Given the description of an element on the screen output the (x, y) to click on. 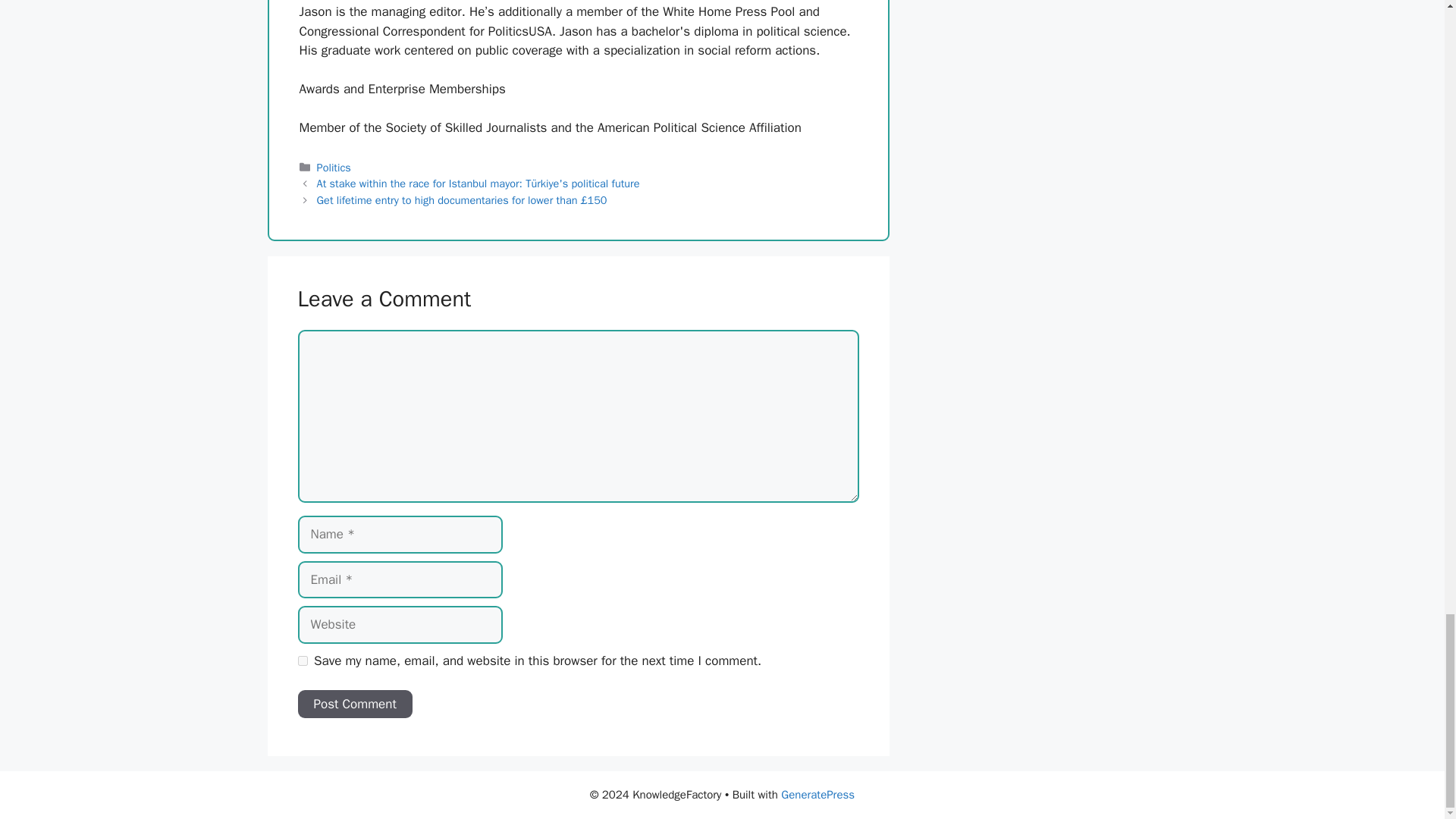
Post Comment (354, 704)
Politics (333, 167)
Post Comment (354, 704)
GeneratePress (817, 794)
yes (302, 660)
